Given the description of an element on the screen output the (x, y) to click on. 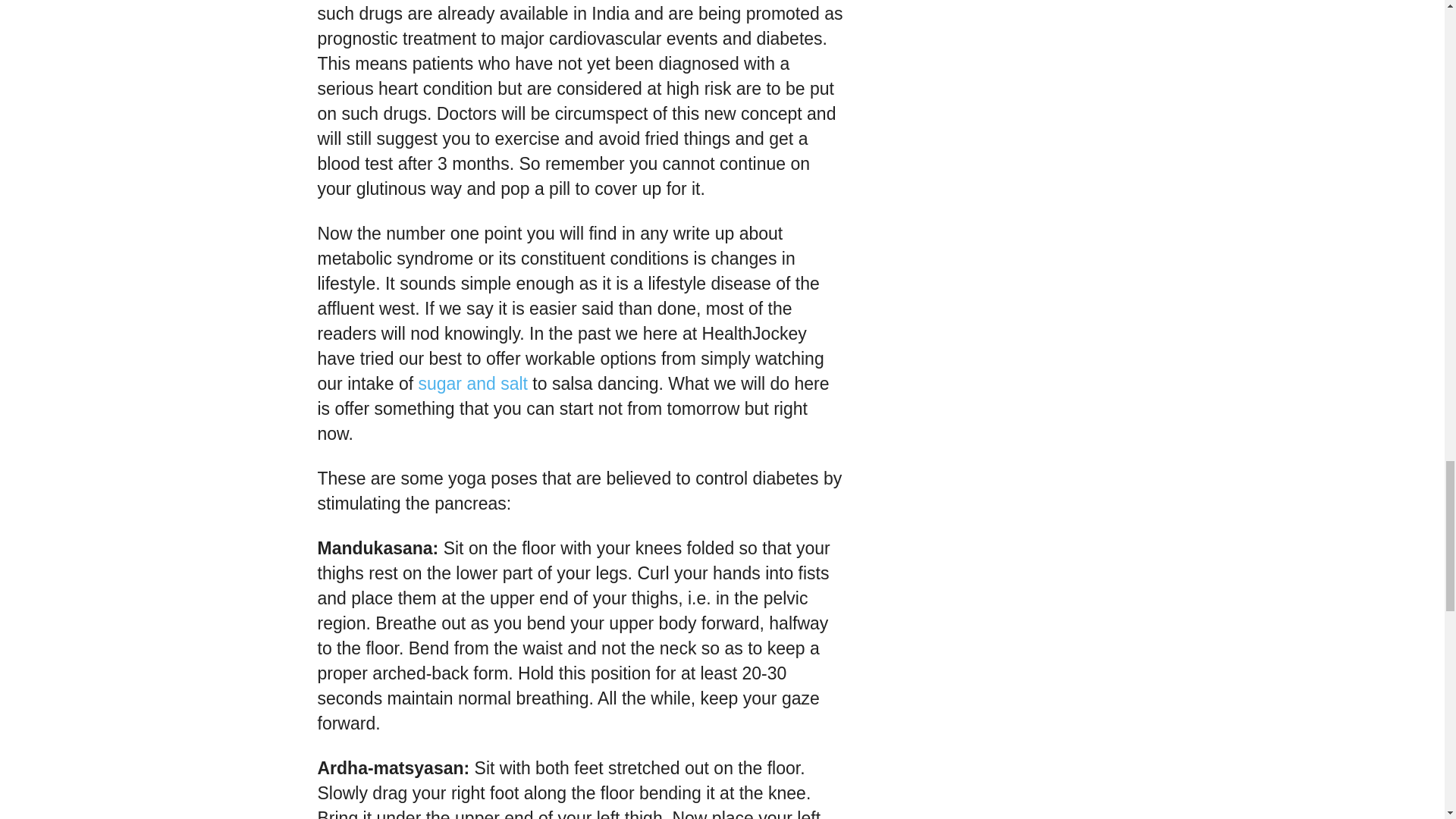
sugar and salt (472, 383)
